Given the description of an element on the screen output the (x, y) to click on. 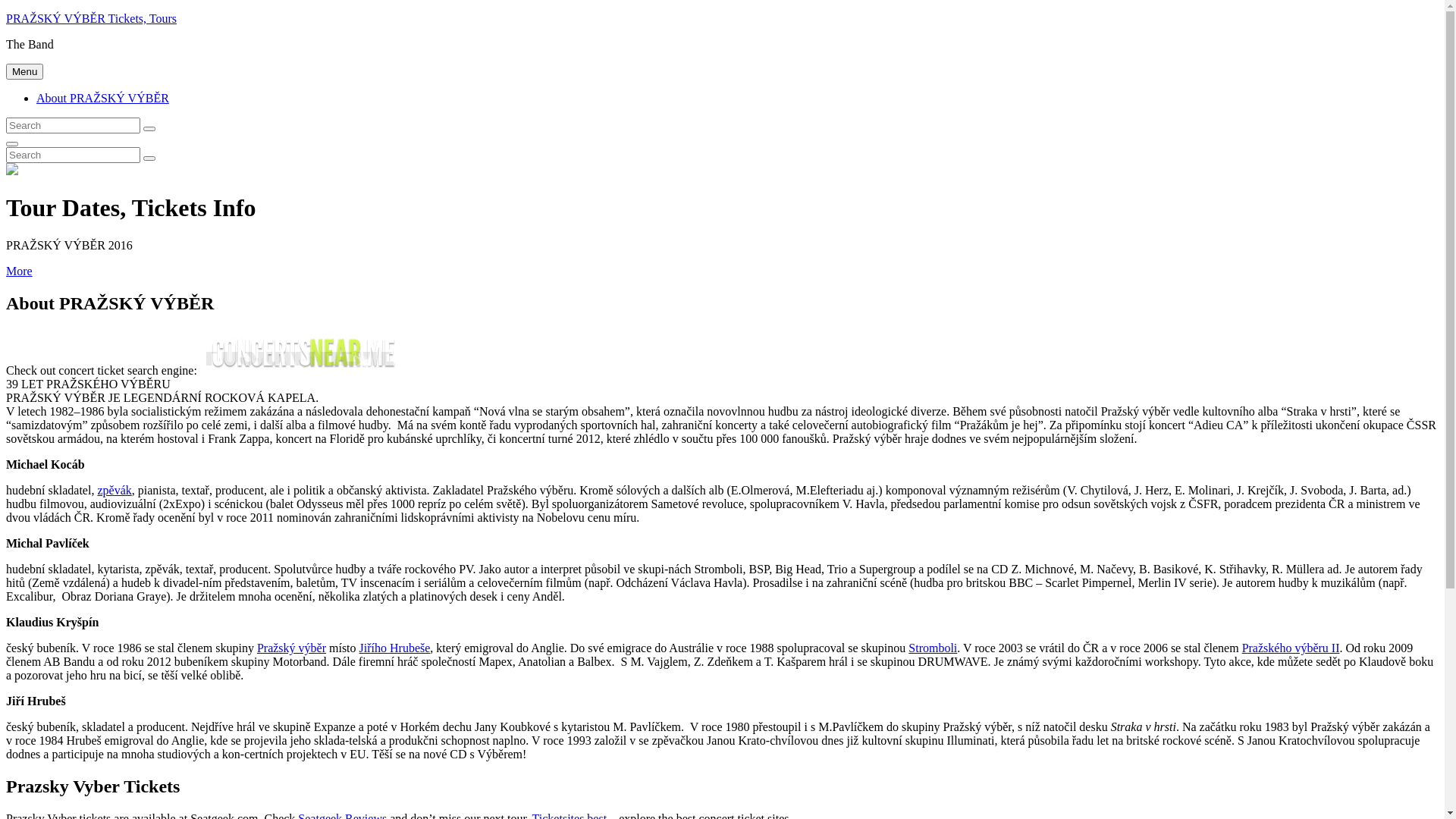
Search Element type: text (149, 128)
Menu Element type: text (24, 71)
Search Element type: text (12, 143)
Skip to content Element type: text (5, 11)
More
Tour Dates, Tickets Info Element type: text (19, 270)
Stromboli Element type: text (932, 647)
Search Element type: text (149, 158)
